Given the description of an element on the screen output the (x, y) to click on. 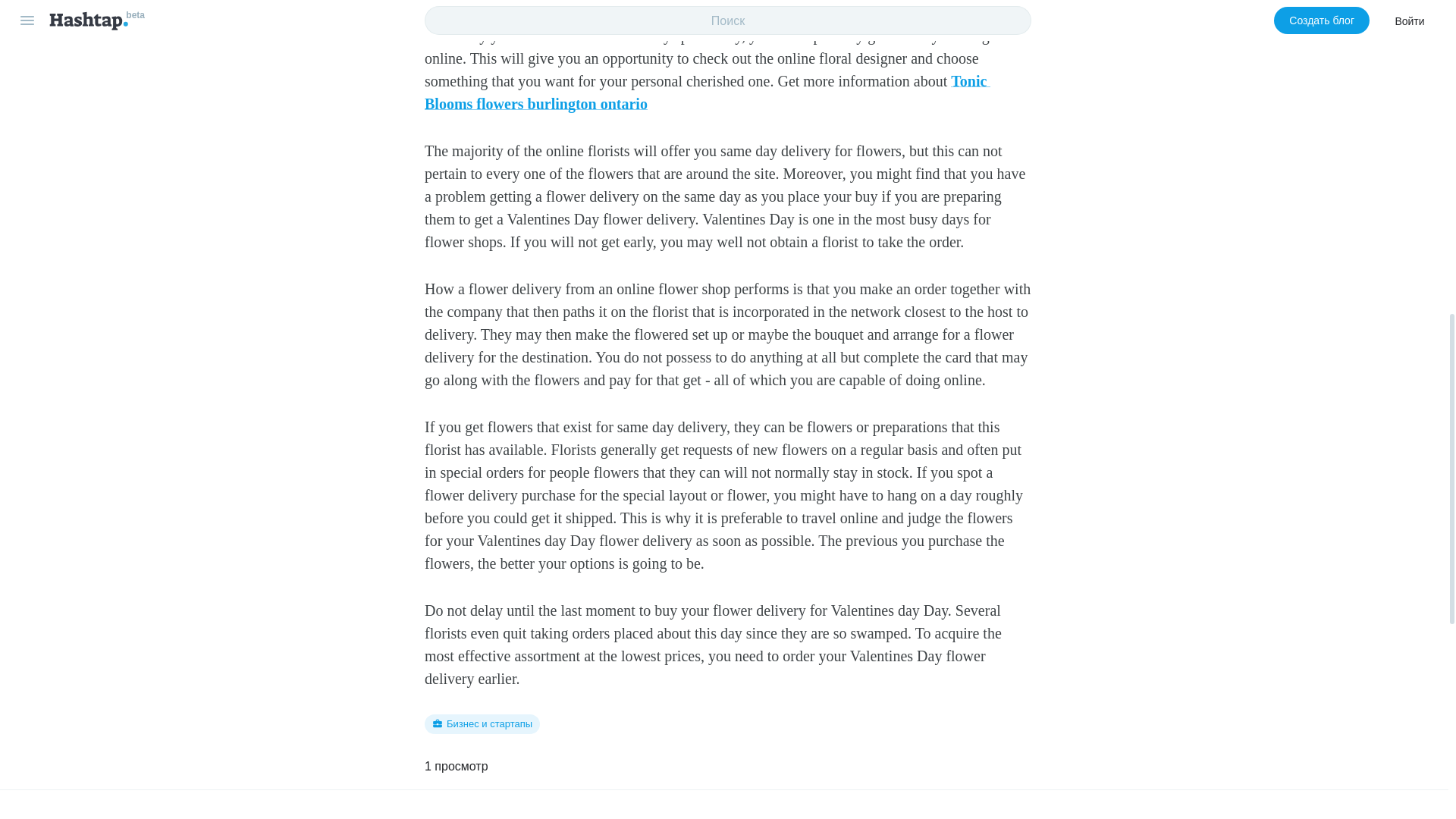
Tonic Blooms flowers burlington ontario (707, 92)
